Given the description of an element on the screen output the (x, y) to click on. 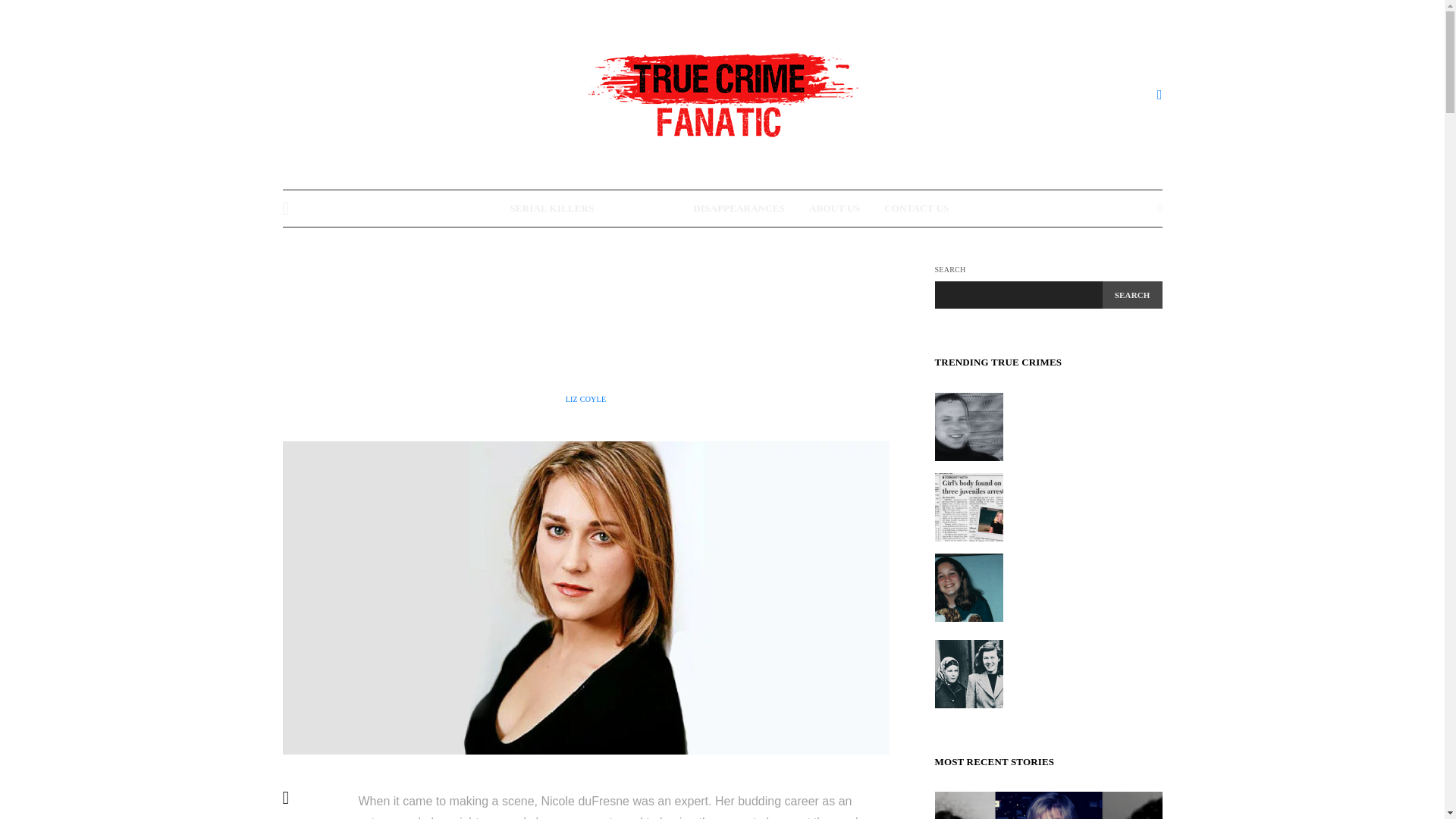
DISAPPEARANCES (738, 208)
MURDERS (642, 208)
CONTACT US (916, 208)
SERIAL KILLERS (551, 208)
ABOUT US (834, 208)
MURDERS (585, 269)
View all posts by Liz Coyle (586, 398)
LIZ COYLE (586, 398)
